Given the description of an element on the screen output the (x, y) to click on. 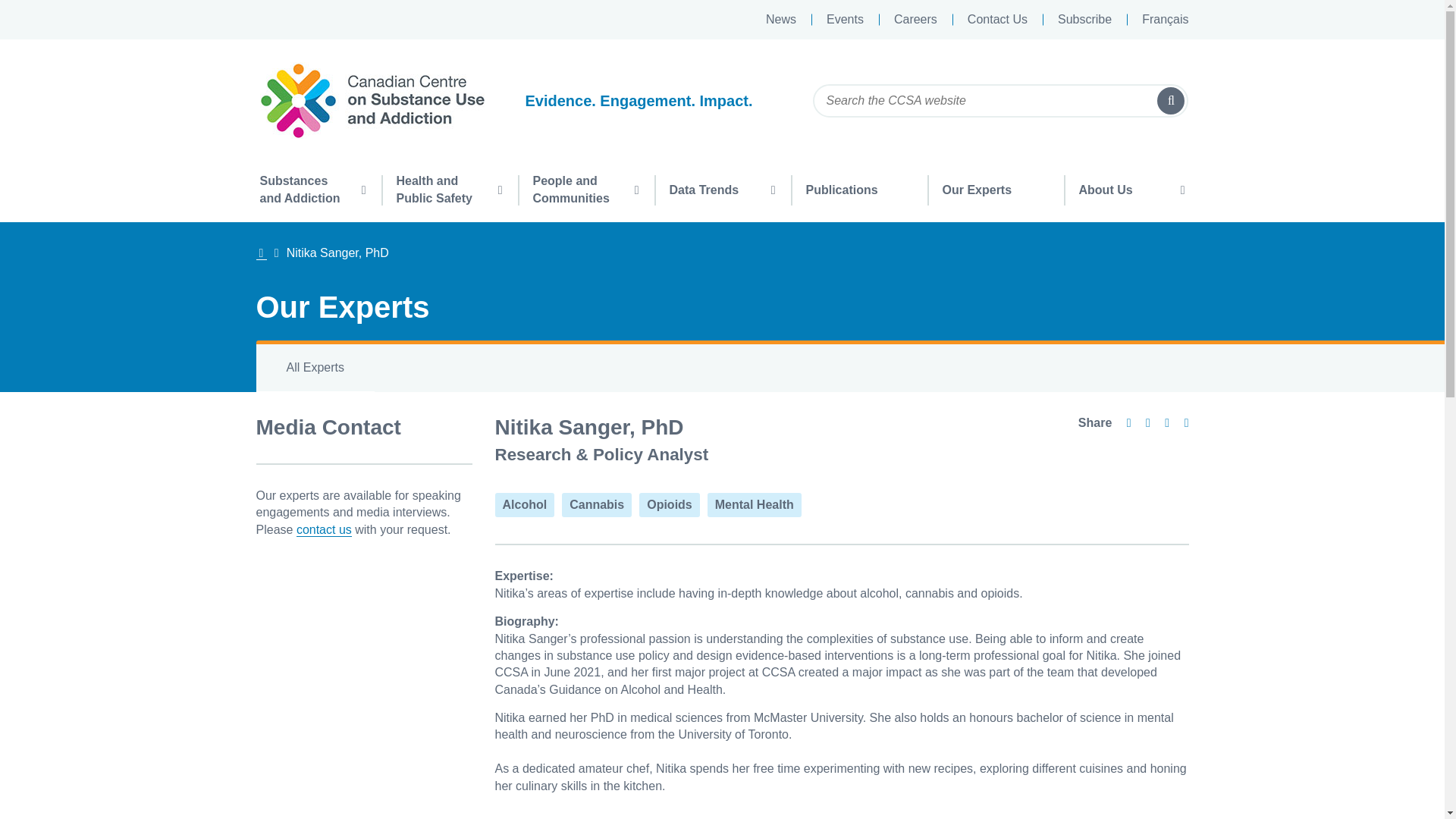
Events (845, 19)
Careers (915, 19)
News (780, 19)
Evidence. Engagement. Impact. (523, 100)
Health and Public Safety (448, 187)
Subscribe (1085, 19)
Contact Us (997, 19)
contact us (324, 530)
People and Communities (584, 187)
Substances and Addiction (312, 187)
